Given the description of an element on the screen output the (x, y) to click on. 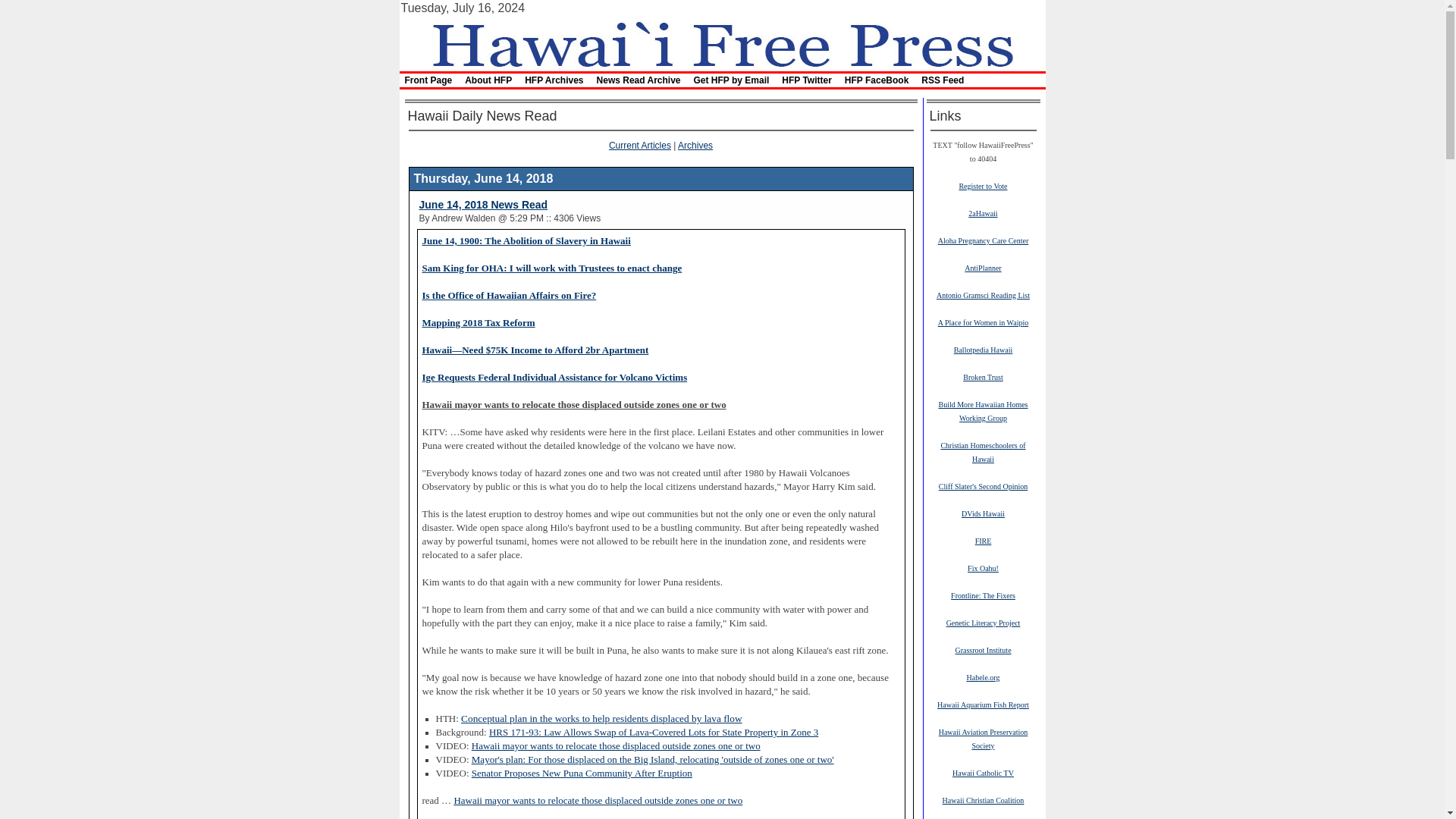
Senator Proposes New Puna Community After Eruption (582, 773)
Hawaii Free Press (721, 42)
Is the Office of Hawaiian Affairs on Fire? (508, 295)
June 14, 1900: The Abolition of Slavery in Hawaii (526, 240)
Mapping 2018 Tax Reform (478, 322)
Archives (695, 145)
Sam King for OHA: I will work with Trustees to enact change (551, 267)
Current Articles (639, 145)
June 14, 2018 News Read (483, 204)
